Given the description of an element on the screen output the (x, y) to click on. 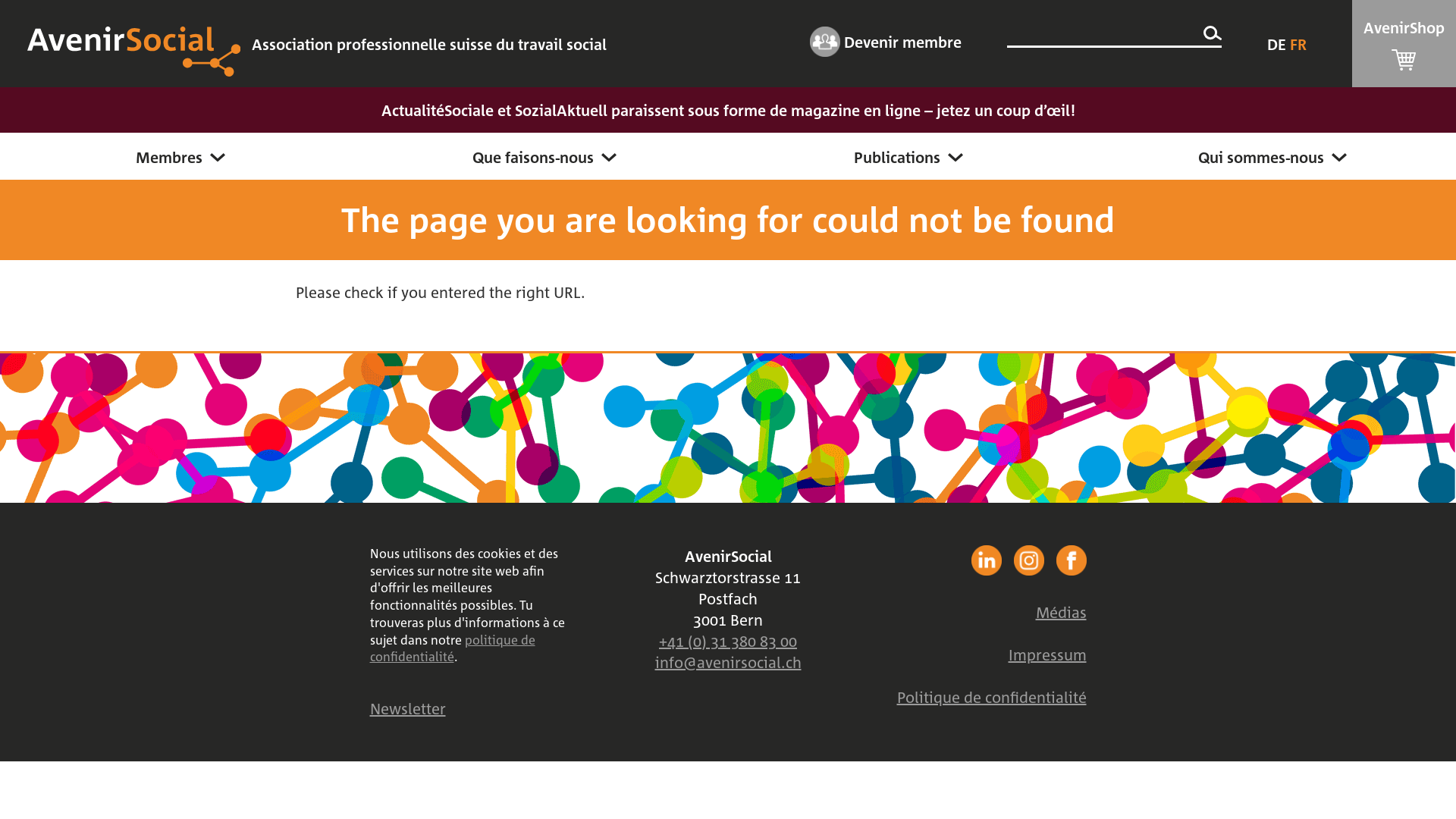
Membres Element type: text (182, 155)
Impressum Element type: text (1047, 654)
Devenir membre Element type: text (885, 39)
facebook Element type: text (1070, 560)
Newsletter Element type: text (407, 708)
facebook Element type: text (985, 560)
facebook Element type: text (1028, 560)
Publications Element type: text (910, 155)
+41 (0) 31 380 83 00 Element type: text (727, 640)
Search Element type: text (1212, 33)
Que faisons-nous Element type: text (546, 155)
FR Element type: text (1297, 43)
AvenirSocial Element type: text (133, 70)
DE Element type: text (1278, 43)
info@avenirsocial.ch Element type: text (728, 661)
